Given the description of an element on the screen output the (x, y) to click on. 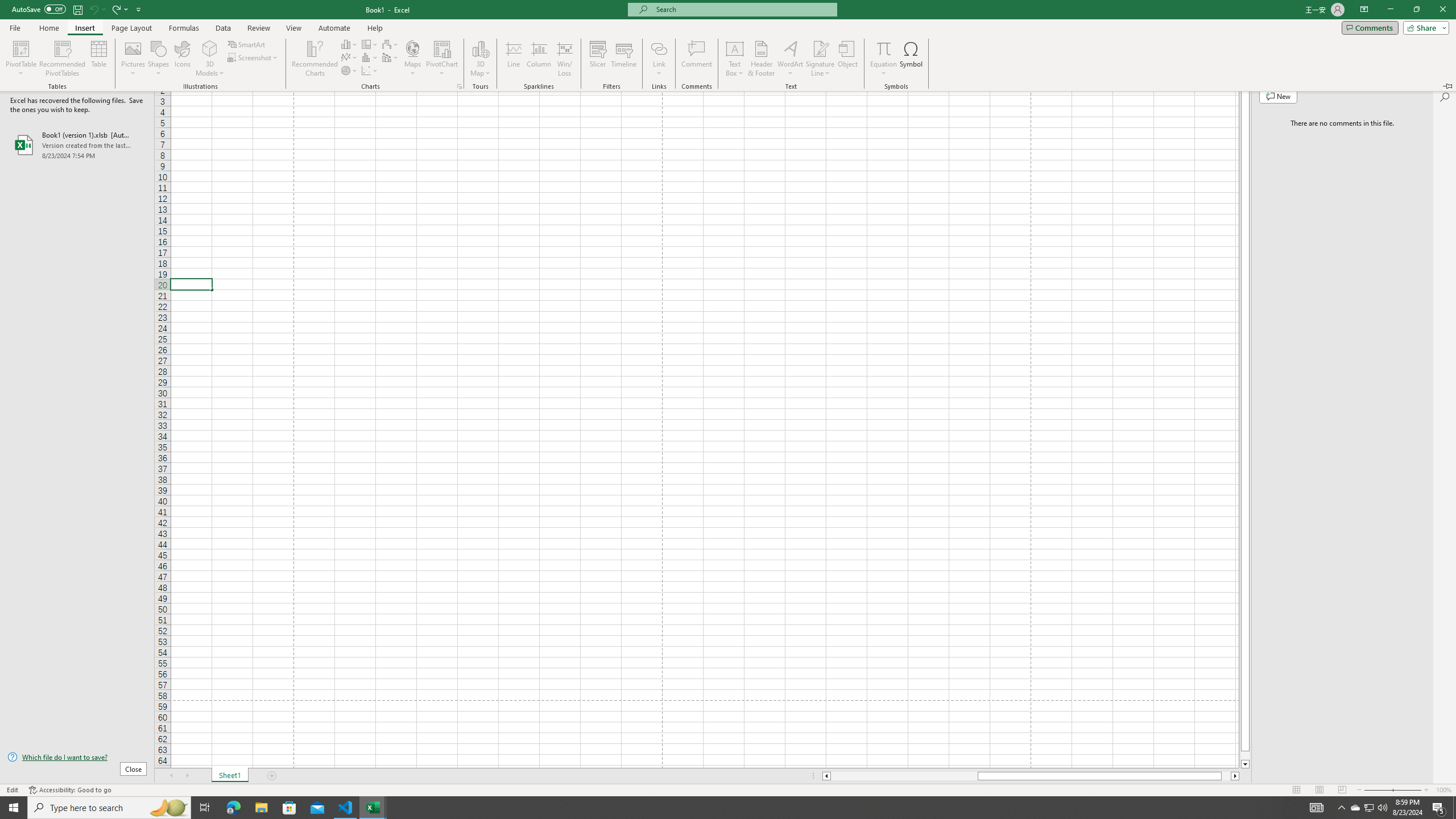
Type here to search (108, 807)
Start (13, 807)
